Given the description of an element on the screen output the (x, y) to click on. 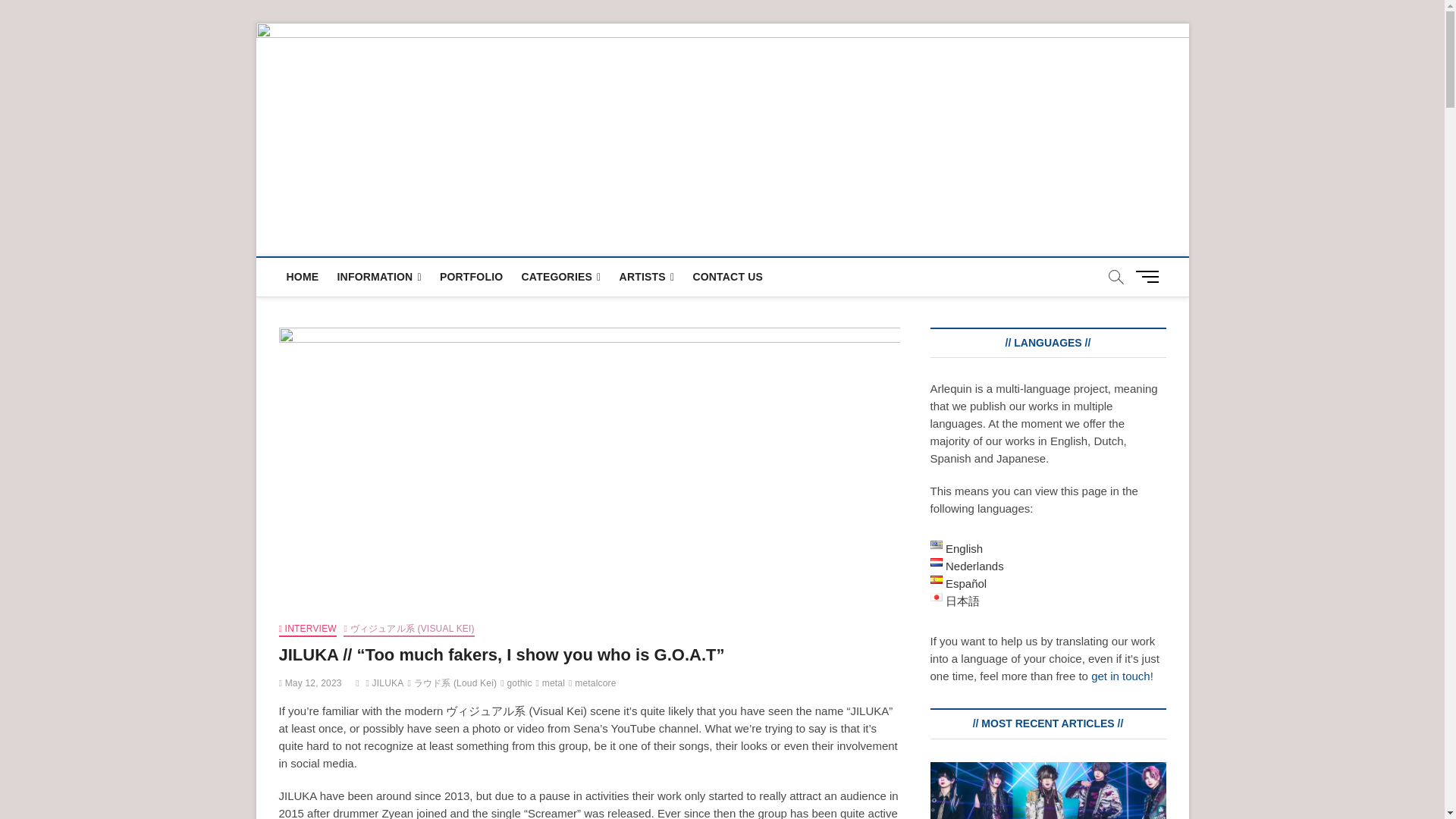
ARTISTS (646, 276)
May 12, 2023 (310, 683)
PORTFOLIO (471, 276)
INFORMATION (378, 276)
CATEGORIES (560, 276)
HOME (302, 276)
